Given the description of an element on the screen output the (x, y) to click on. 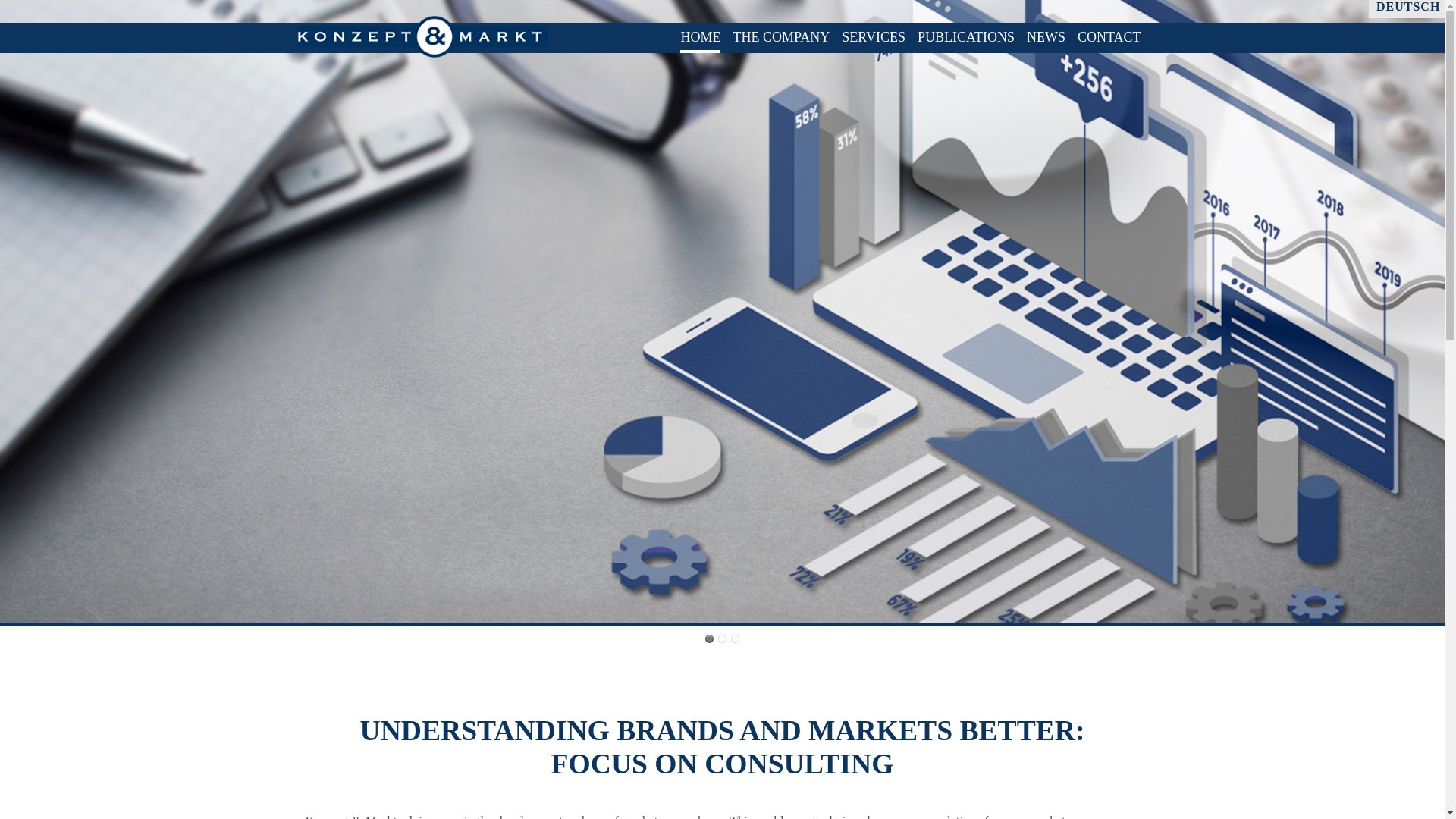
THE COMPANY (780, 36)
Services (873, 36)
News (1045, 36)
CONTACT (1109, 36)
Contact (1109, 36)
PUBLICATIONS (965, 36)
1 (709, 638)
SERVICES (873, 36)
The company (780, 36)
NEWS (1045, 36)
